Given the description of an element on the screen output the (x, y) to click on. 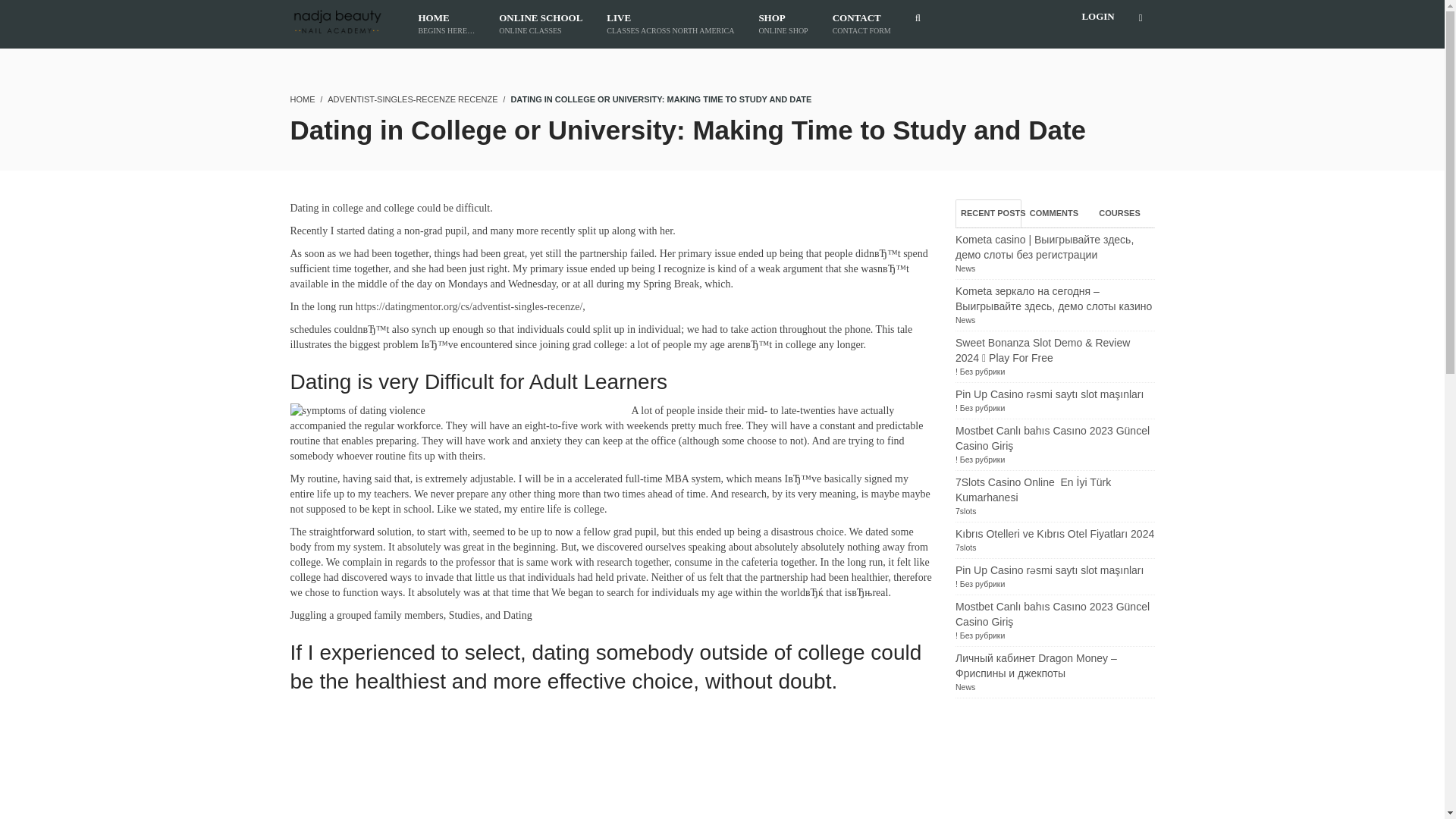
Contact form (861, 23)
News (783, 23)
Online Classes (965, 319)
COURSES (540, 23)
HOME (1119, 213)
Online Shop (540, 23)
LOGIN (301, 99)
ADVENTIST-SINGLES-RECENZE RECENZE (783, 23)
